Given the description of an element on the screen output the (x, y) to click on. 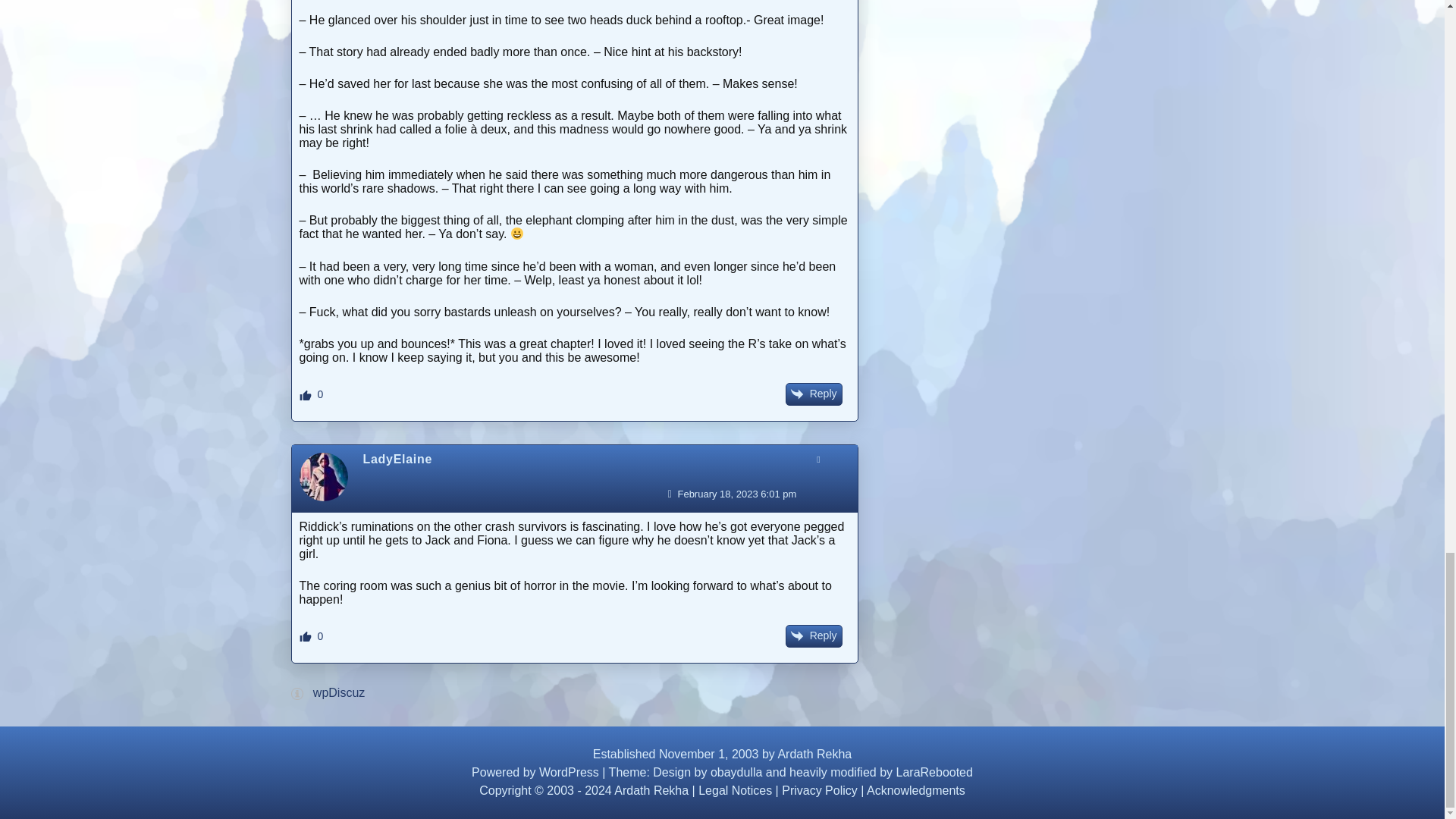
wpDiscuz (339, 692)
